Given the description of an element on the screen output the (x, y) to click on. 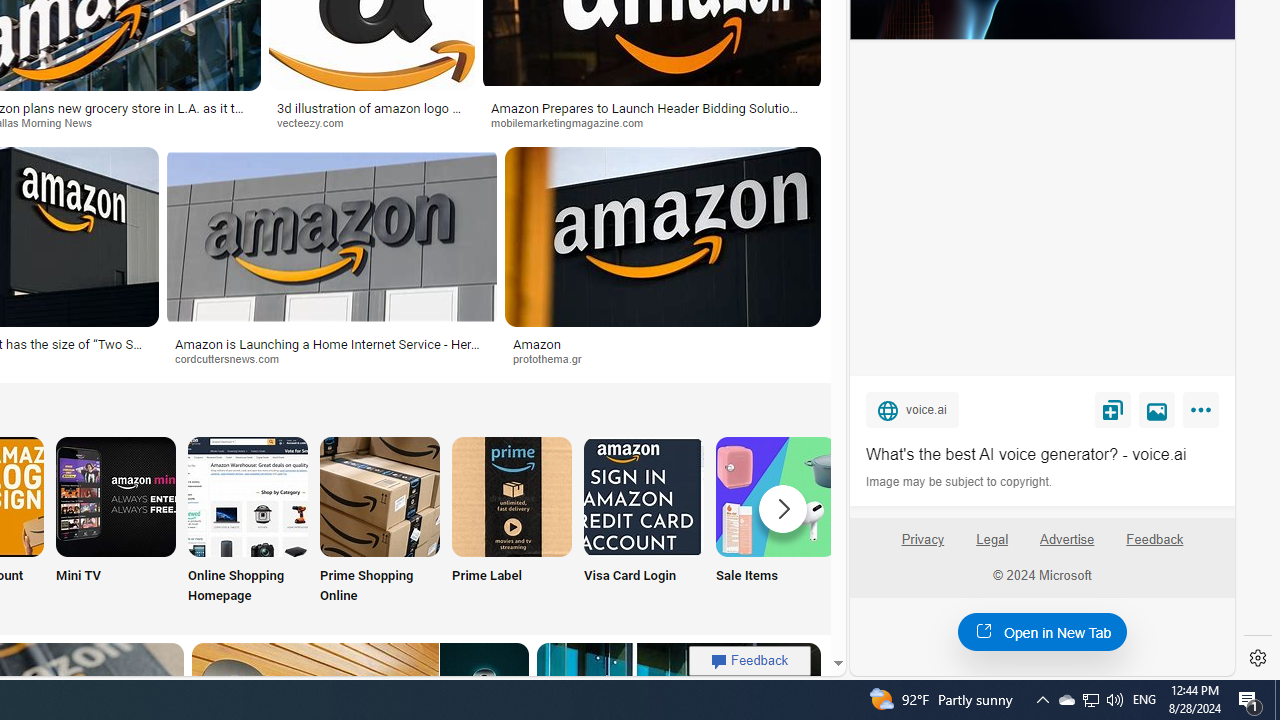
Legal (992, 547)
vecteezy.com (317, 121)
Amazon Visa Card Login Visa Card Login (643, 521)
3d illustration of amazon logo 18779928 PNG (371, 114)
Amazon Sale Items Sale Items (775, 521)
Amazon Mini TV (116, 496)
protothema.gr (554, 358)
Amazon Prime Label (511, 496)
Amazon Online Shopping Homepage Online Shopping Homepage (248, 521)
cordcuttersnews.com (331, 359)
cordcuttersnews.com (234, 358)
What's the best AI voice generator? - voice.ai (1042, 454)
Prime Shopping Online (380, 521)
Amazon Sale Items (775, 496)
